Given the description of an element on the screen output the (x, y) to click on. 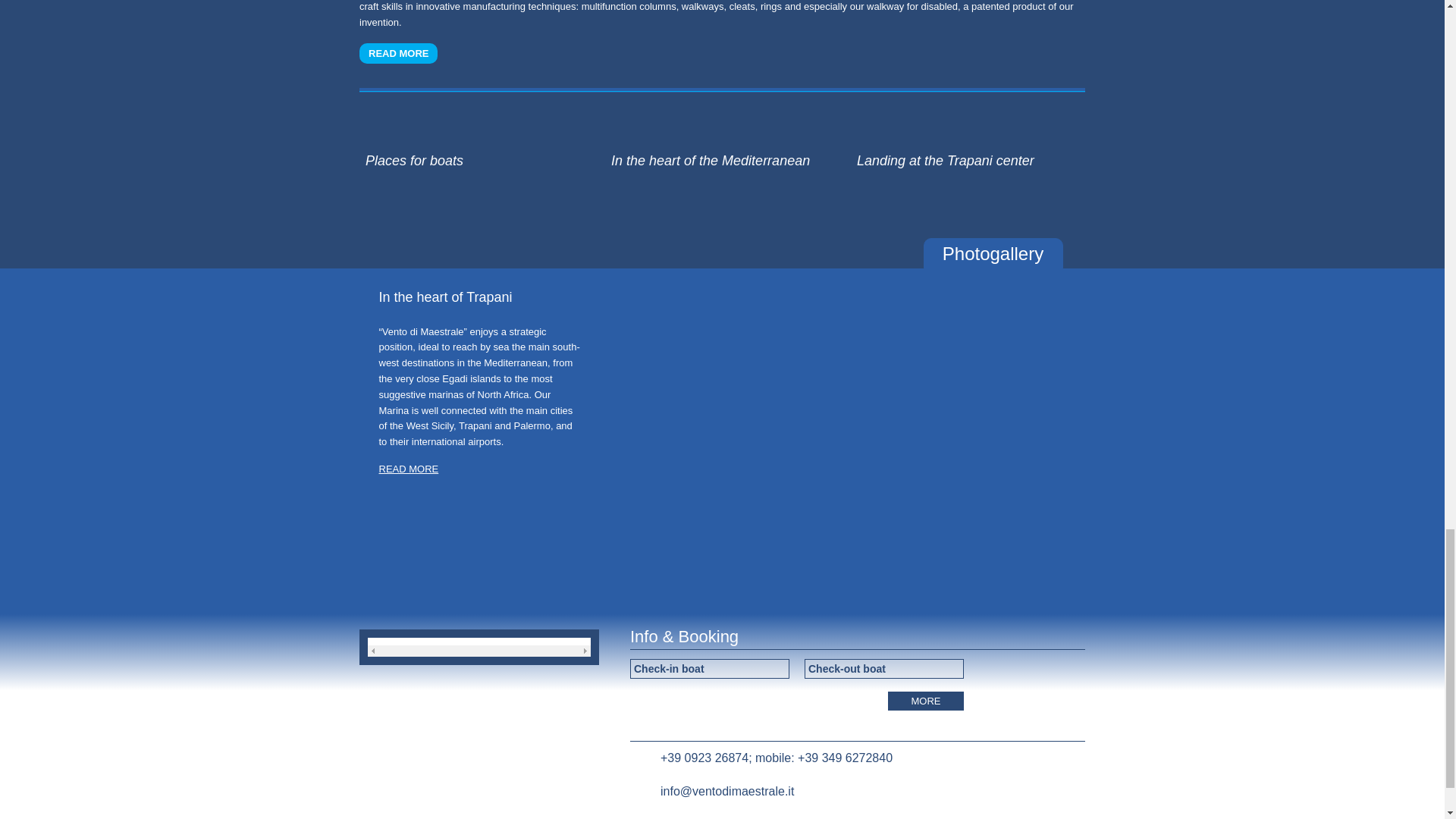
Places for boats (478, 147)
Check-out boat (884, 668)
Check-in boat (709, 668)
In the heart of the Mediterranean (724, 147)
More (925, 700)
READ MORE (398, 53)
READ MORE (408, 469)
Landing at the Trapani center (970, 147)
More (925, 700)
Photogallery (992, 253)
